Given the description of an element on the screen output the (x, y) to click on. 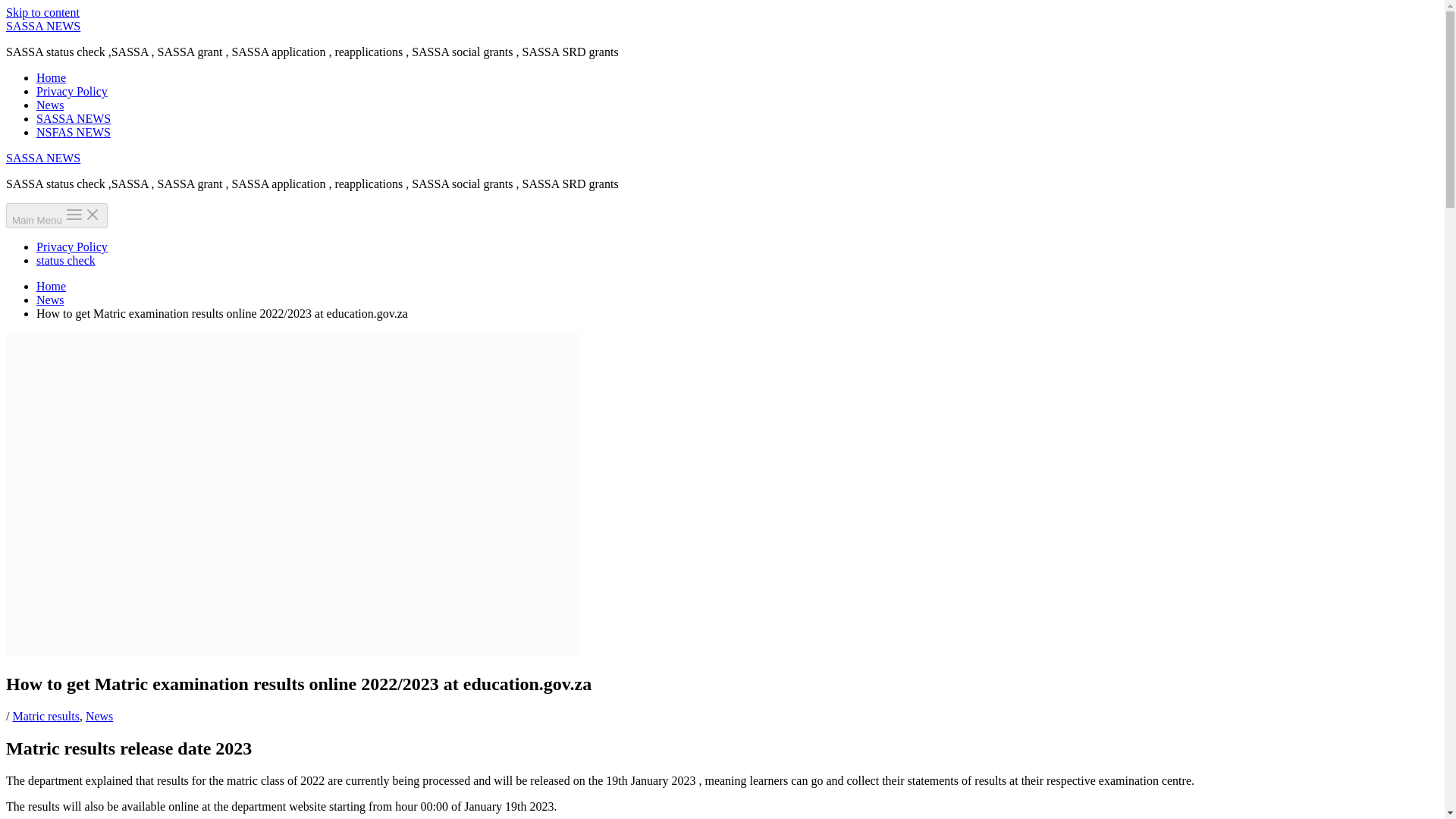
SASSA NEWS (73, 118)
Main Menu (56, 215)
status check (66, 259)
NSFAS NEWS (73, 132)
SASSA NEWS (42, 25)
Privacy Policy (71, 91)
Matric results (44, 716)
Home (50, 77)
News (99, 716)
Home (50, 286)
